Given the description of an element on the screen output the (x, y) to click on. 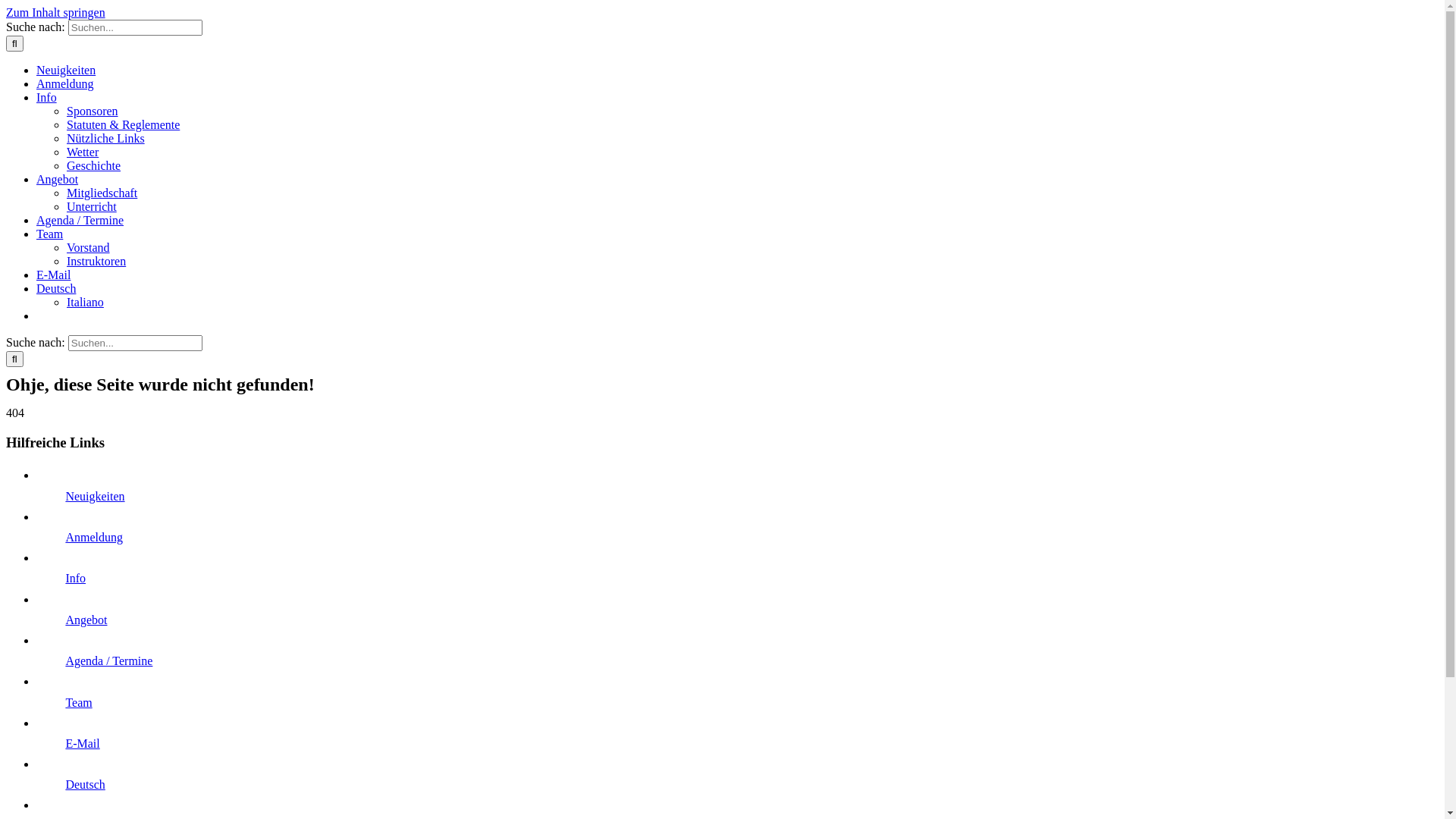
Vorstand Element type: text (87, 247)
Agenda / Termine Element type: text (108, 660)
Sponsoren Element type: text (92, 110)
Anmeldung Element type: text (65, 83)
Angebot Element type: text (85, 619)
Agenda / Termine Element type: text (79, 219)
Instruktoren Element type: text (95, 260)
Info Element type: text (75, 577)
Unterricht Element type: text (91, 206)
Neuigkeiten Element type: text (94, 495)
Zum Inhalt springen Element type: text (55, 12)
Mitgliedschaft Element type: text (101, 192)
Deutsch Element type: text (55, 288)
E-Mail Element type: text (82, 743)
Geschichte Element type: text (93, 165)
Info Element type: text (46, 97)
Italiano Element type: text (84, 301)
Anmeldung Element type: text (93, 536)
Deutsch Element type: text (84, 784)
Wetter Element type: text (82, 151)
E-Mail Element type: text (53, 274)
Team Element type: text (49, 233)
Neuigkeiten Element type: text (65, 69)
Statuten & Reglemente Element type: text (122, 124)
Angebot Element type: text (57, 178)
Team Element type: text (78, 702)
